Given the description of an element on the screen output the (x, y) to click on. 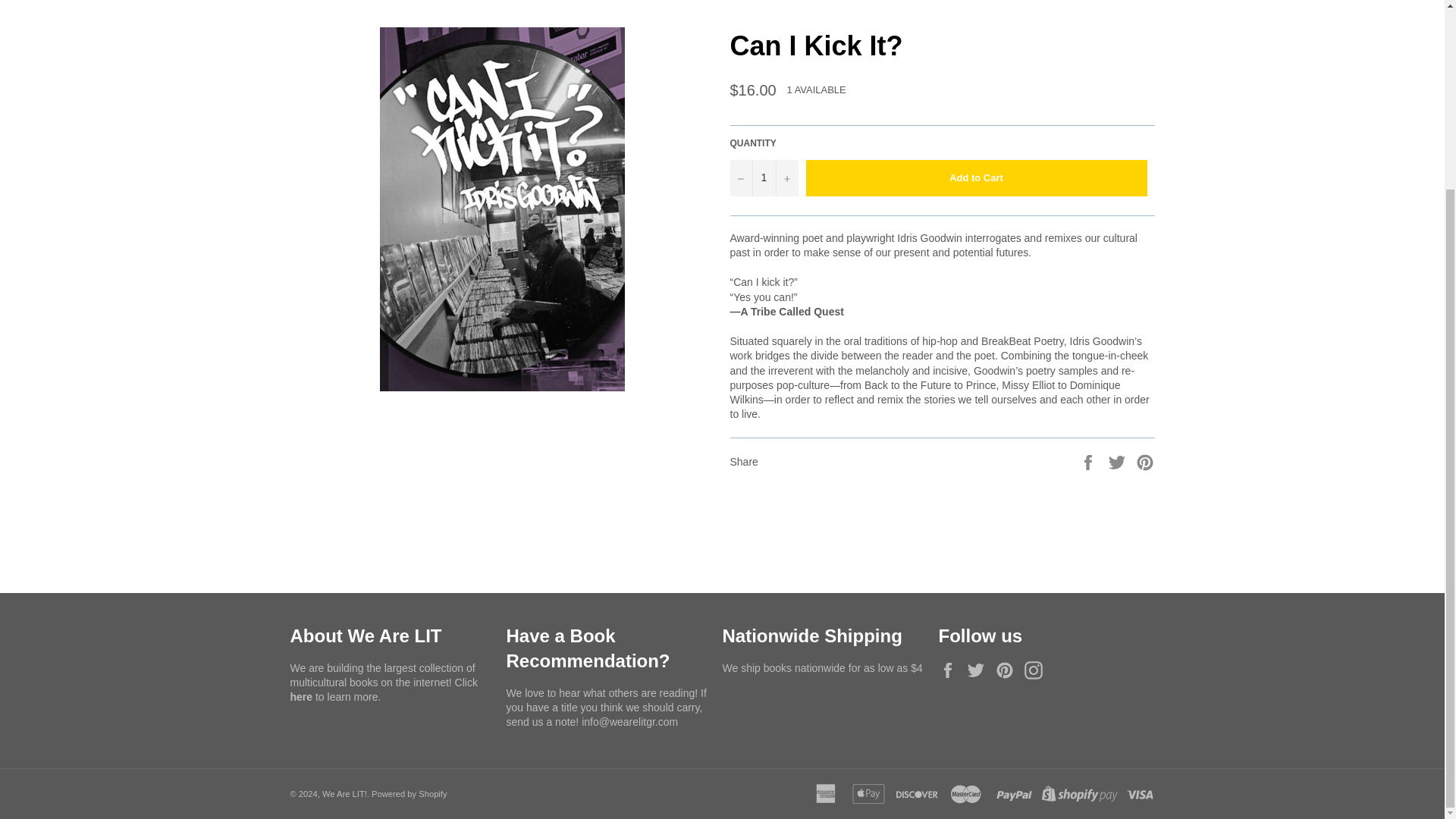
We Are LIT! on Pinterest (1008, 669)
About Us (301, 696)
Tweet on Twitter (1118, 460)
Pin on Pinterest (1144, 460)
We Are LIT! on Instagram (1037, 669)
We Are LIT! on Twitter (979, 669)
Share on Facebook (1089, 460)
1 (763, 177)
We Are LIT! on Facebook (951, 669)
